Given the description of an element on the screen output the (x, y) to click on. 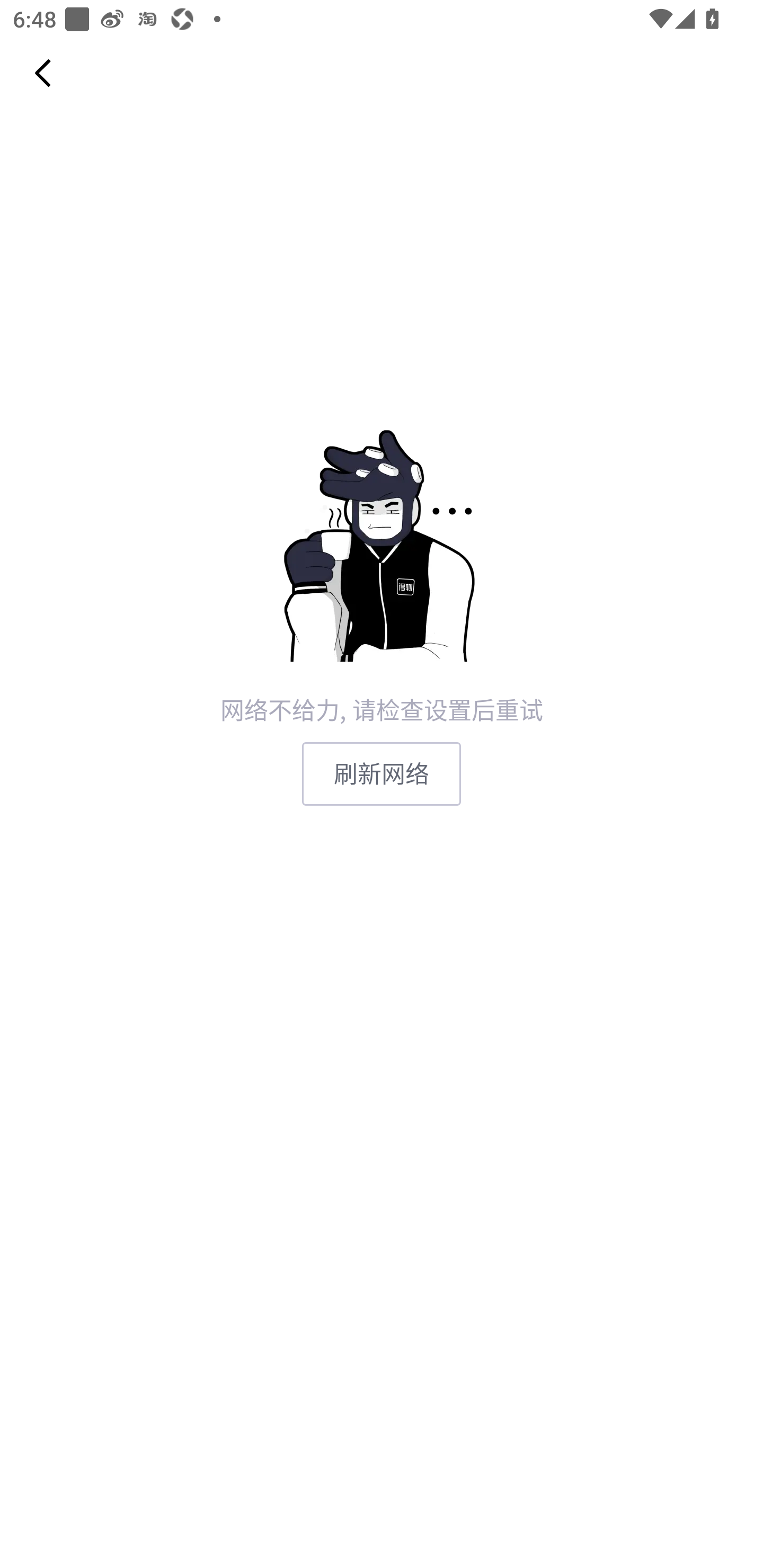
刷新网络 (381, 773)
